Given the description of an element on the screen output the (x, y) to click on. 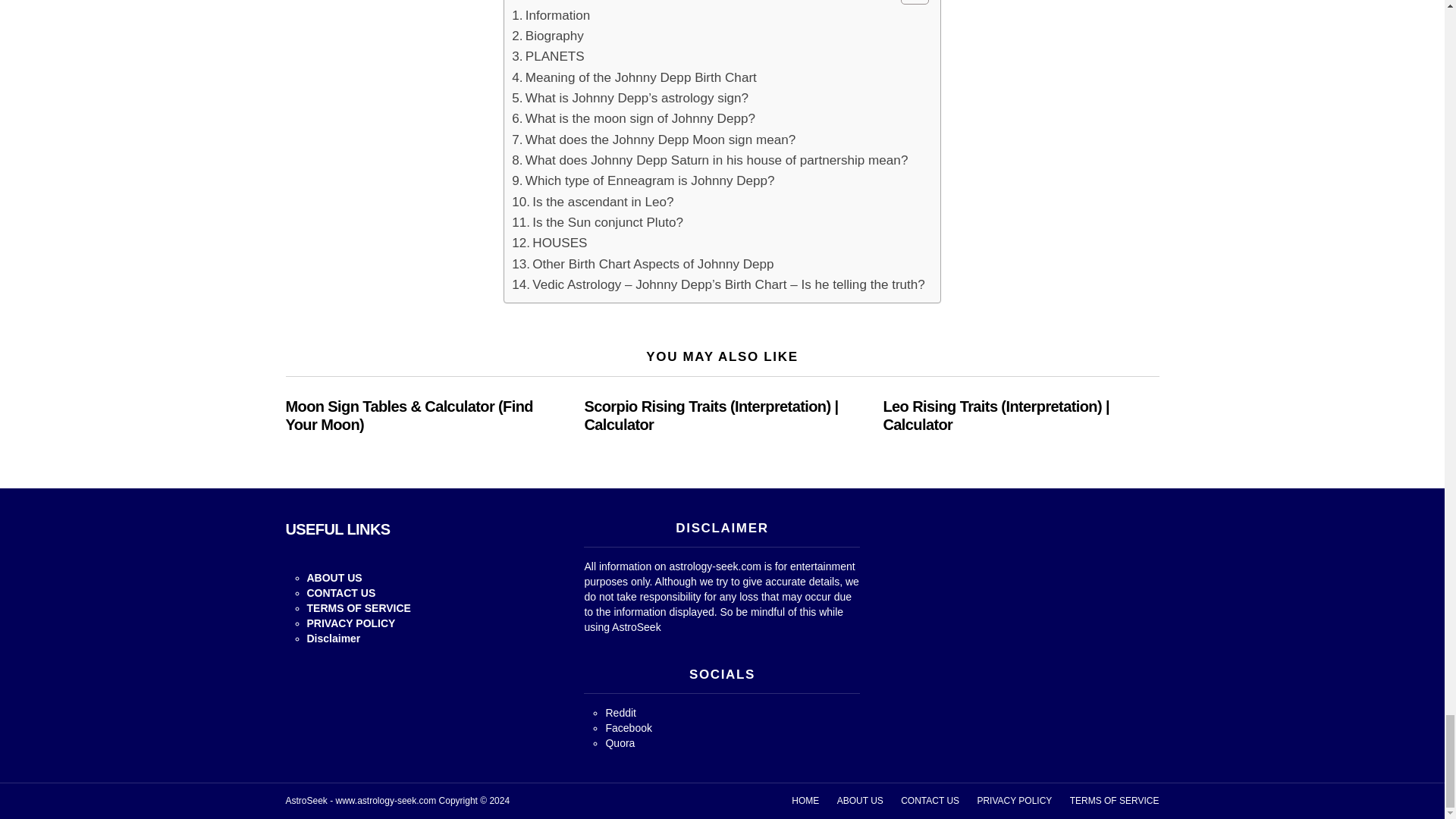
Meaning of the Johnny Depp Birth Chart (634, 77)
Biography (547, 35)
What is the moon sign of Johnny Depp? (633, 118)
PLANETS (548, 55)
Is the ascendant in Leo? (592, 201)
Information (550, 14)
Is the Sun conjunct Pluto? (597, 222)
What is the moon sign of Johnny Depp? (633, 118)
Which type of Enneagram is Johnny Depp? (643, 180)
Is the Sun conjunct Pluto? (597, 222)
